Given the description of an element on the screen output the (x, y) to click on. 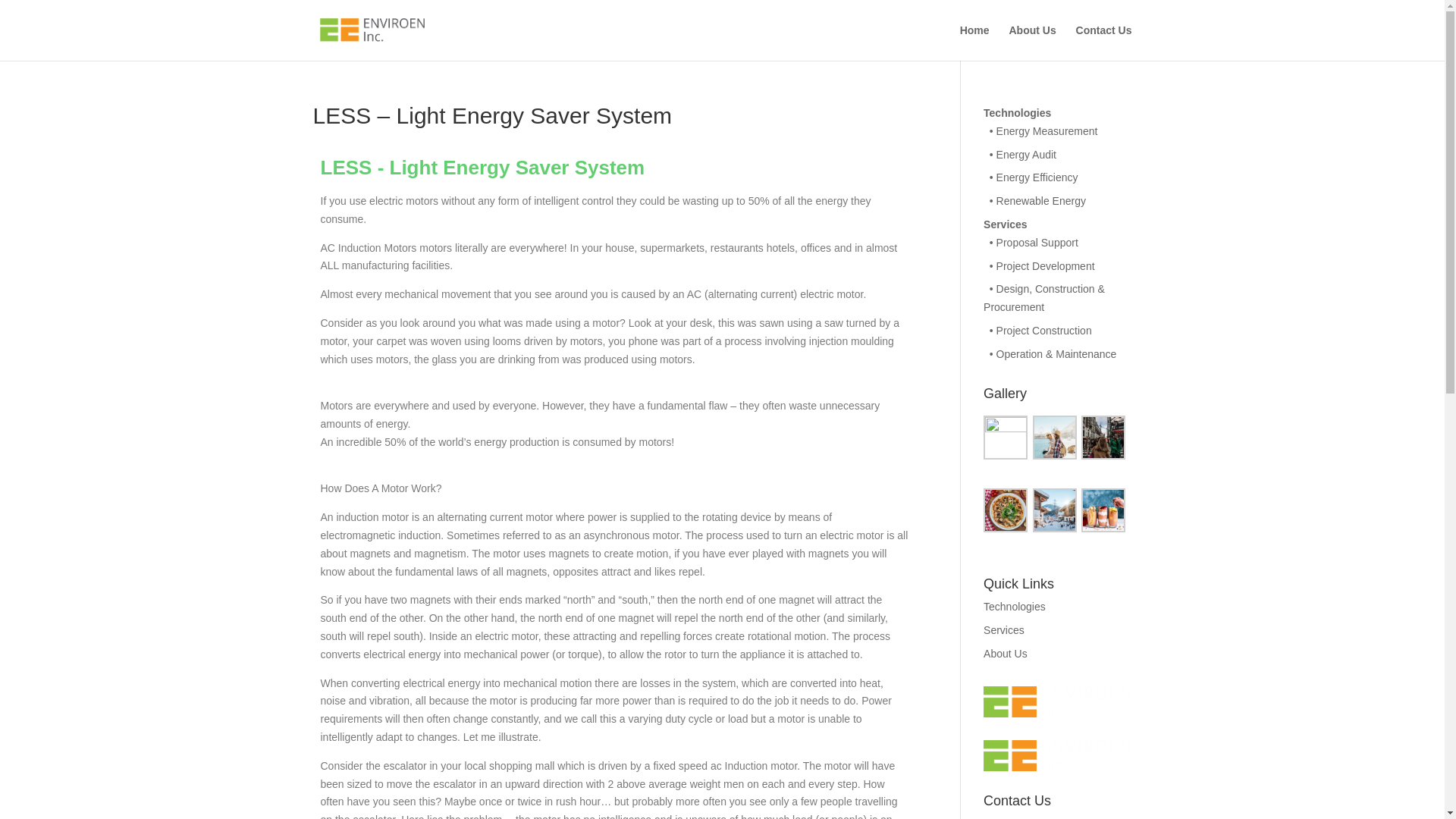
Technologies (1014, 606)
Services (1004, 630)
Contact Us (1103, 42)
About Us (1032, 42)
About Us (1005, 653)
